Given the description of an element on the screen output the (x, y) to click on. 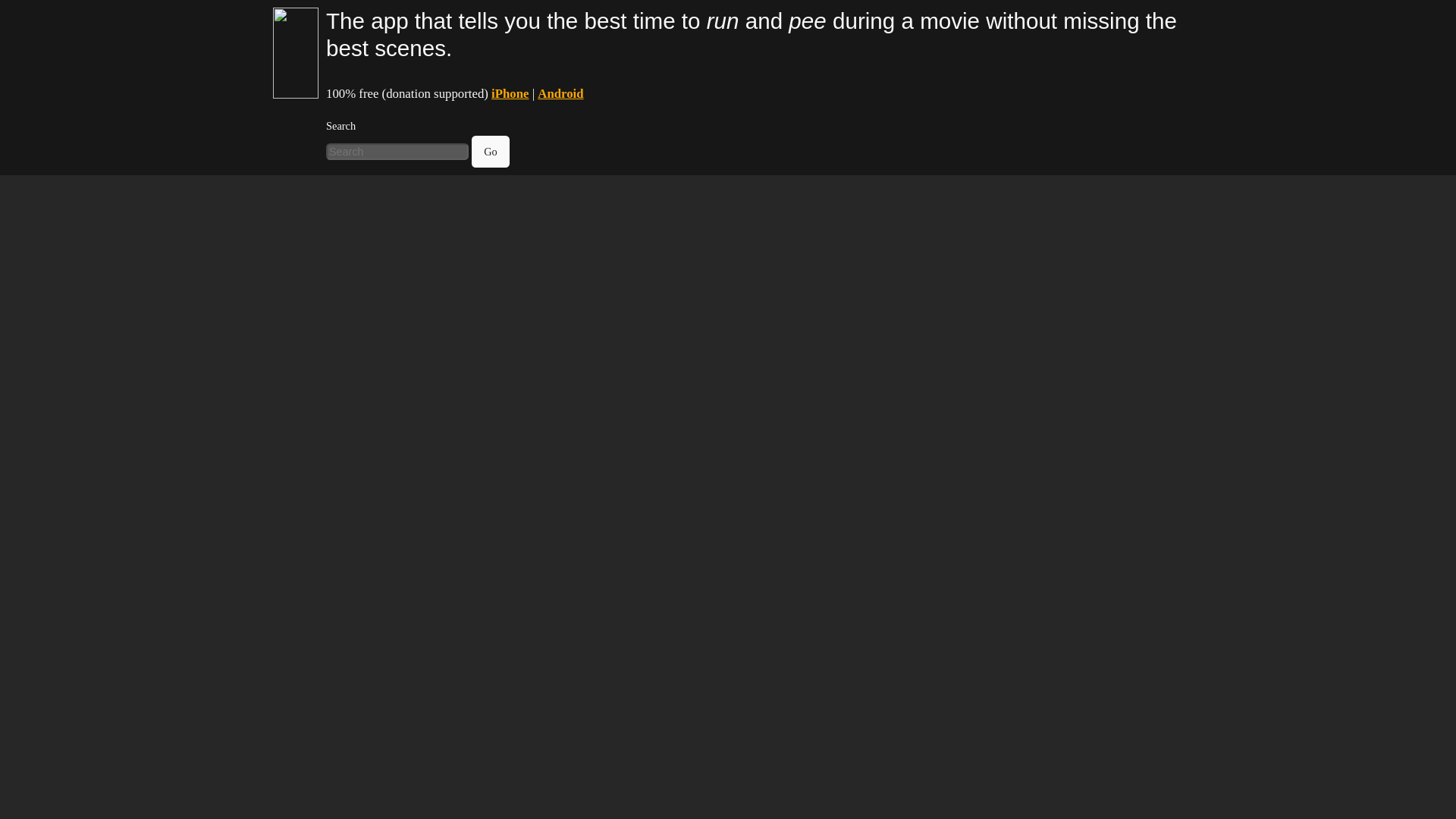
Go (490, 151)
iPhone (510, 93)
Android (560, 93)
